Given the description of an element on the screen output the (x, y) to click on. 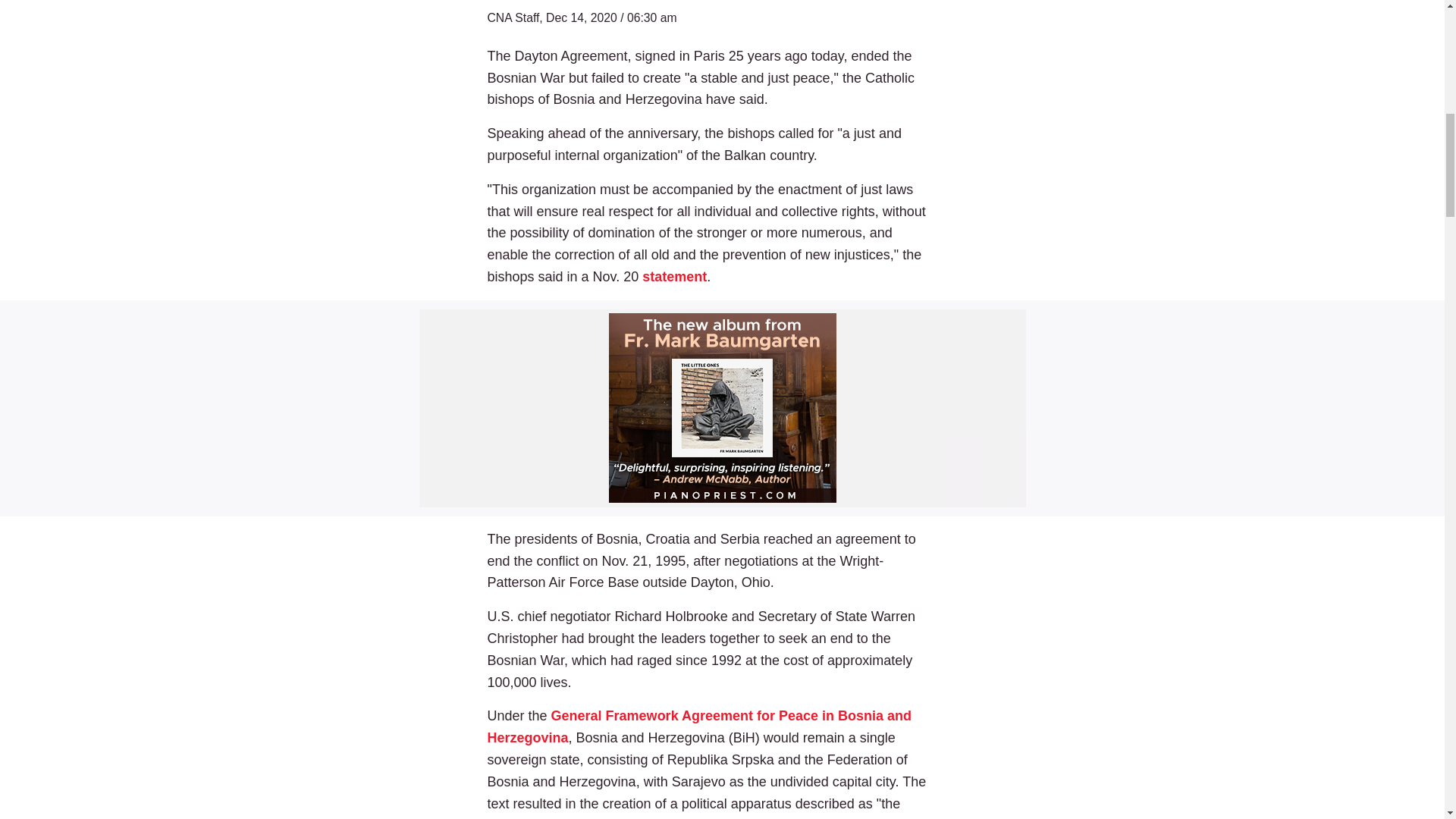
3rd party ad content (722, 407)
